Given the description of an element on the screen output the (x, y) to click on. 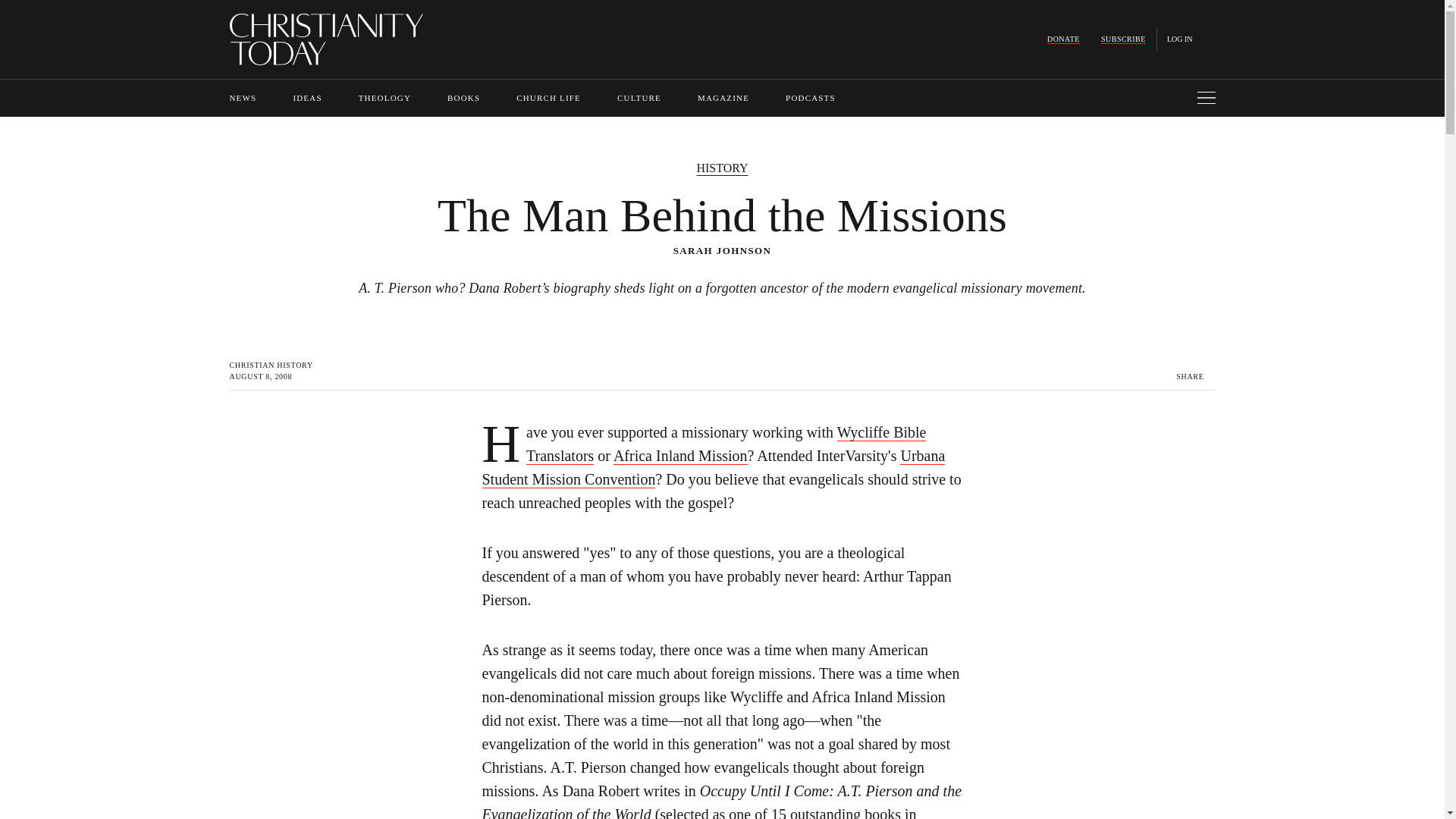
SUBSCRIBE (1122, 39)
CULTURE (639, 97)
THEOLOGY (384, 97)
LOG IN (1179, 39)
MAGAZINE (723, 97)
DONATE (1063, 39)
PODCASTS (810, 97)
IDEAS (306, 97)
CHURCH LIFE (548, 97)
BOOKS (463, 97)
